Given the description of an element on the screen output the (x, y) to click on. 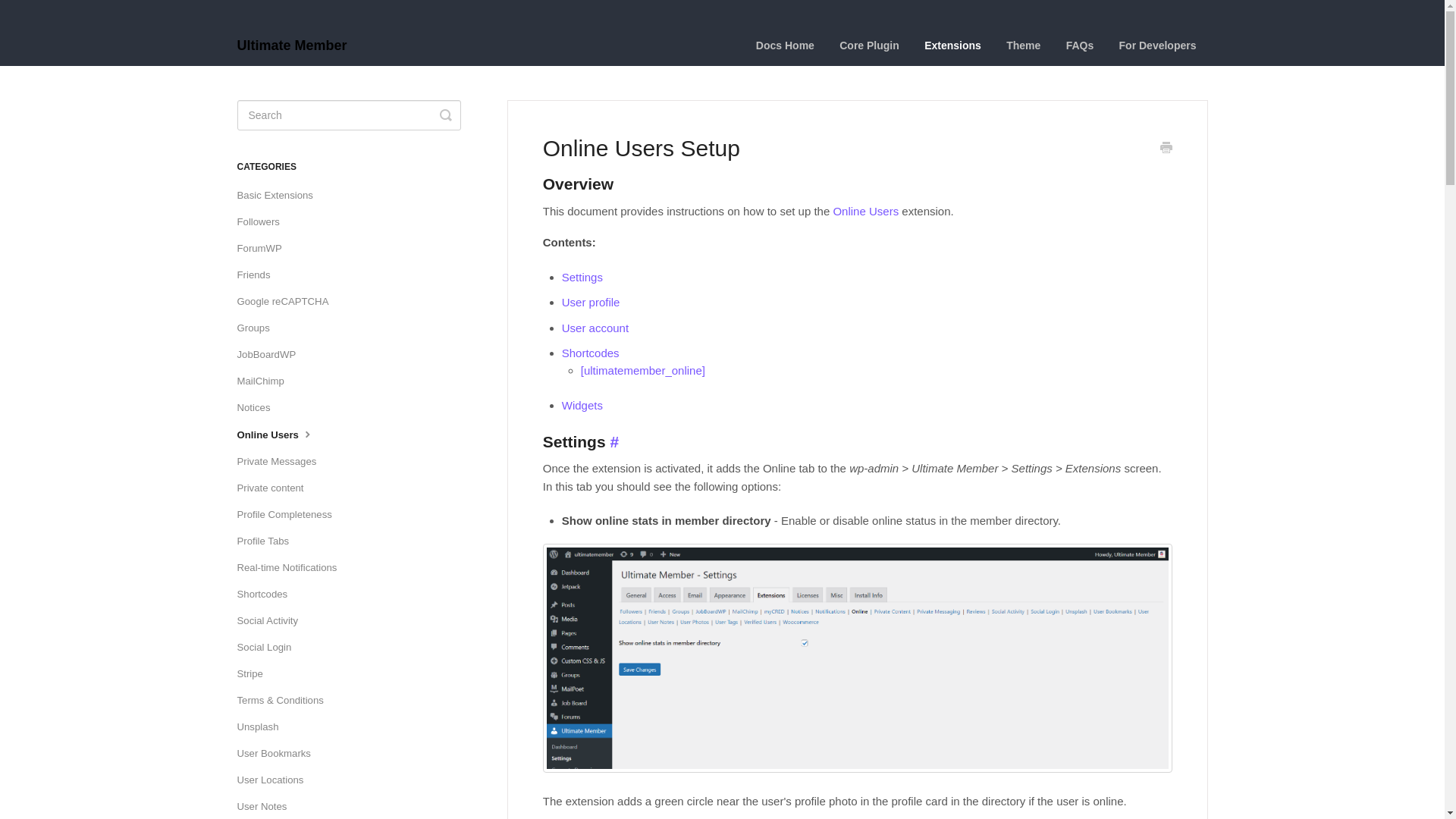
Real-time Notifications (291, 567)
ForumWP (263, 248)
Private Messages (281, 461)
search-query (347, 114)
MailChimp (265, 381)
Friends (258, 274)
Profile Completeness (288, 514)
Basic Extensions (279, 195)
Private content (274, 487)
Shortcodes (266, 594)
Docs Home (784, 45)
JobBoardWP (271, 354)
Social Activity (271, 621)
Followers (262, 221)
Widgets (582, 404)
